Given the description of an element on the screen output the (x, y) to click on. 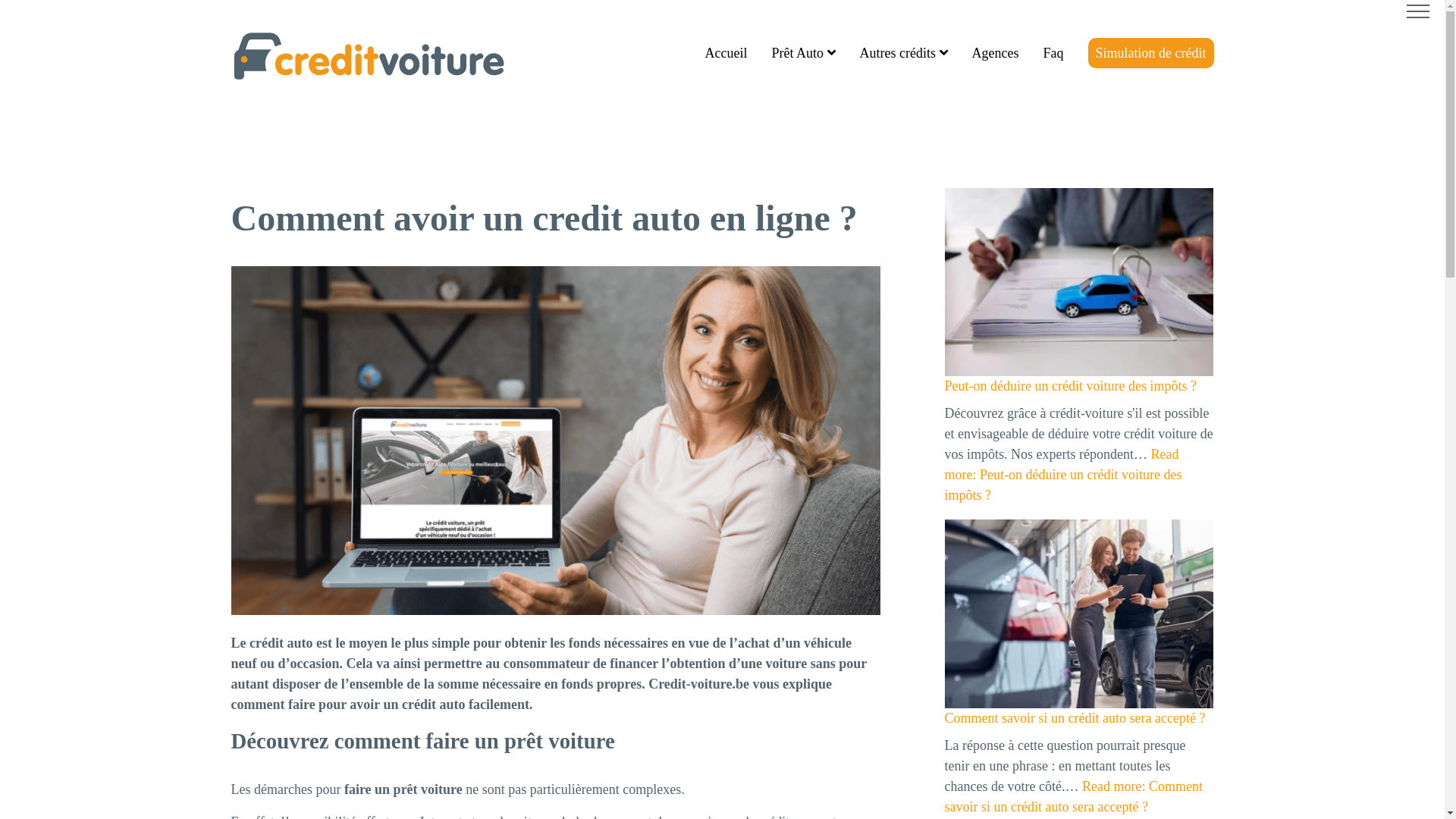
Accueil Element type: text (726, 52)
Faq Element type: text (1053, 52)
Agences Element type: text (995, 52)
